Given the description of an element on the screen output the (x, y) to click on. 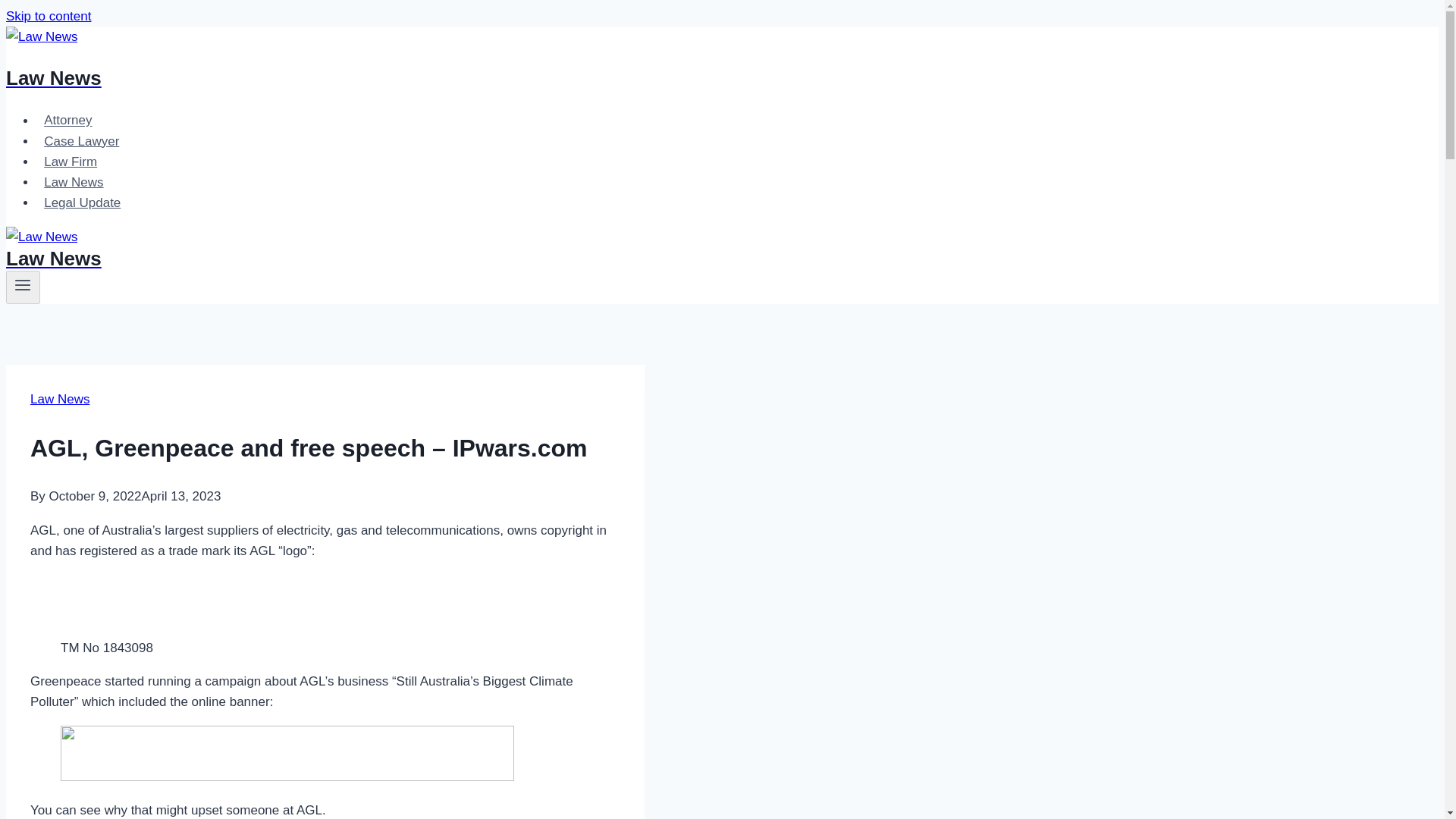
Law News (59, 399)
Law News (74, 182)
Law News (494, 59)
Legal Update (82, 202)
Case Lawyer (82, 141)
Skip to content (47, 16)
Attorney (68, 120)
Toggle Menu (22, 287)
Law News (494, 249)
Skip to content (47, 16)
Law Firm (70, 161)
Toggle Menu (22, 285)
